Given the description of an element on the screen output the (x, y) to click on. 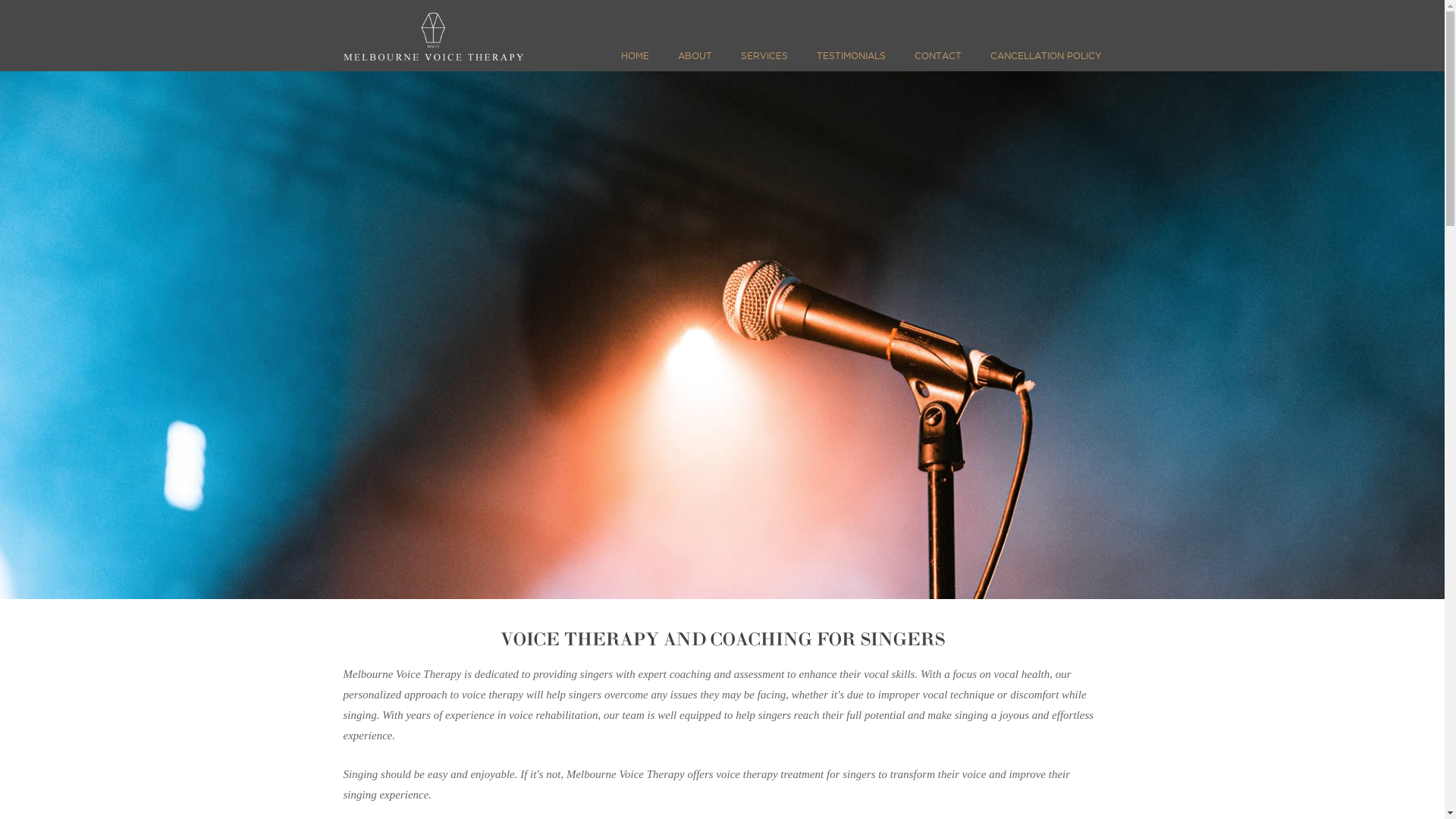
ABOUT Element type: text (694, 61)
CANCELLATION POLICY Element type: text (1041, 61)
TESTIMONIALS Element type: text (850, 61)
HOME Element type: text (637, 61)
SERVICES Element type: text (763, 61)
CONTACT Element type: text (937, 61)
